Given the description of an element on the screen output the (x, y) to click on. 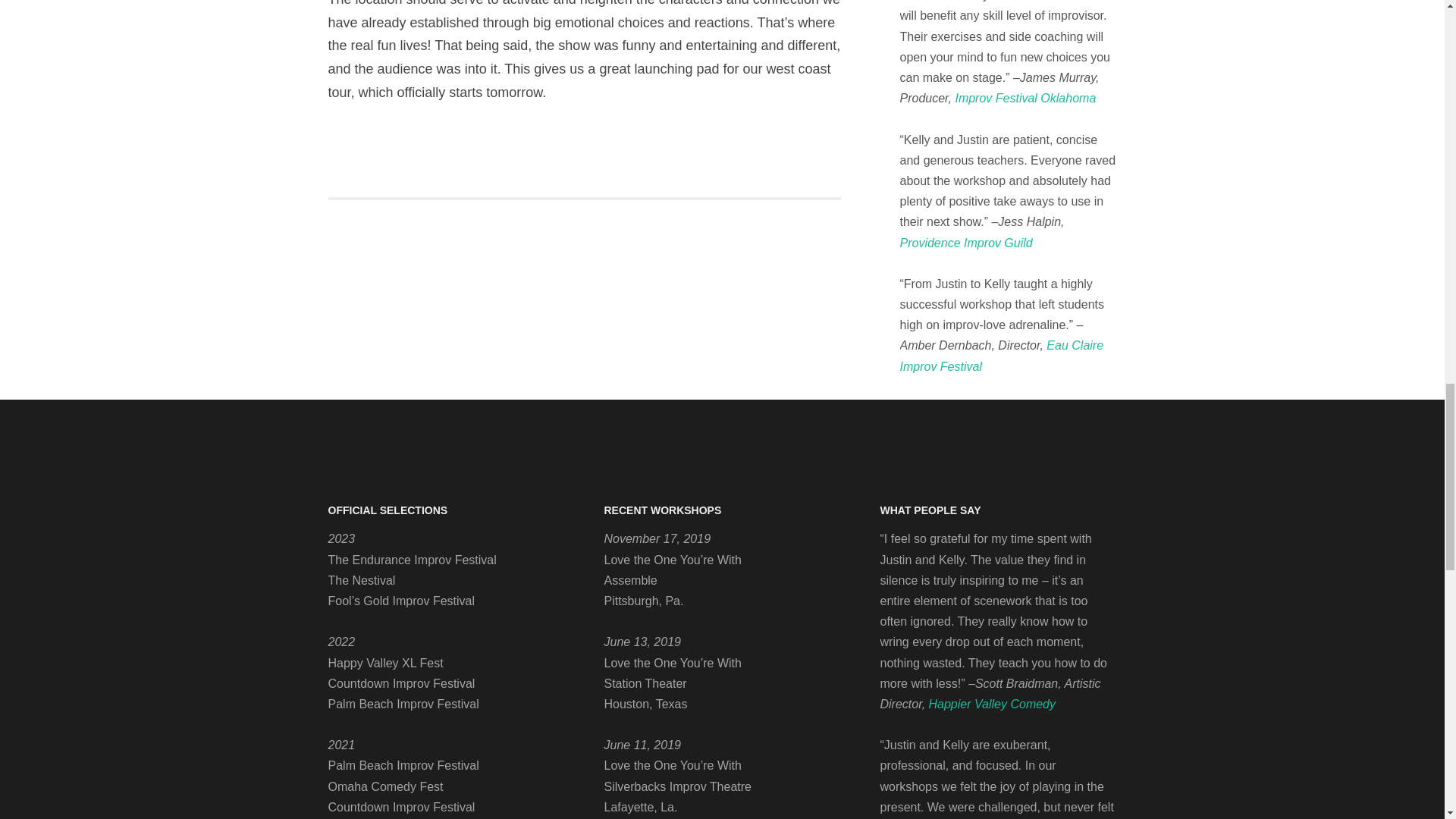
Improv Festival Oklahoma (1025, 97)
Eau Claire Improv Festival (1001, 355)
Providence Improv Guild (965, 242)
